Given the description of an element on the screen output the (x, y) to click on. 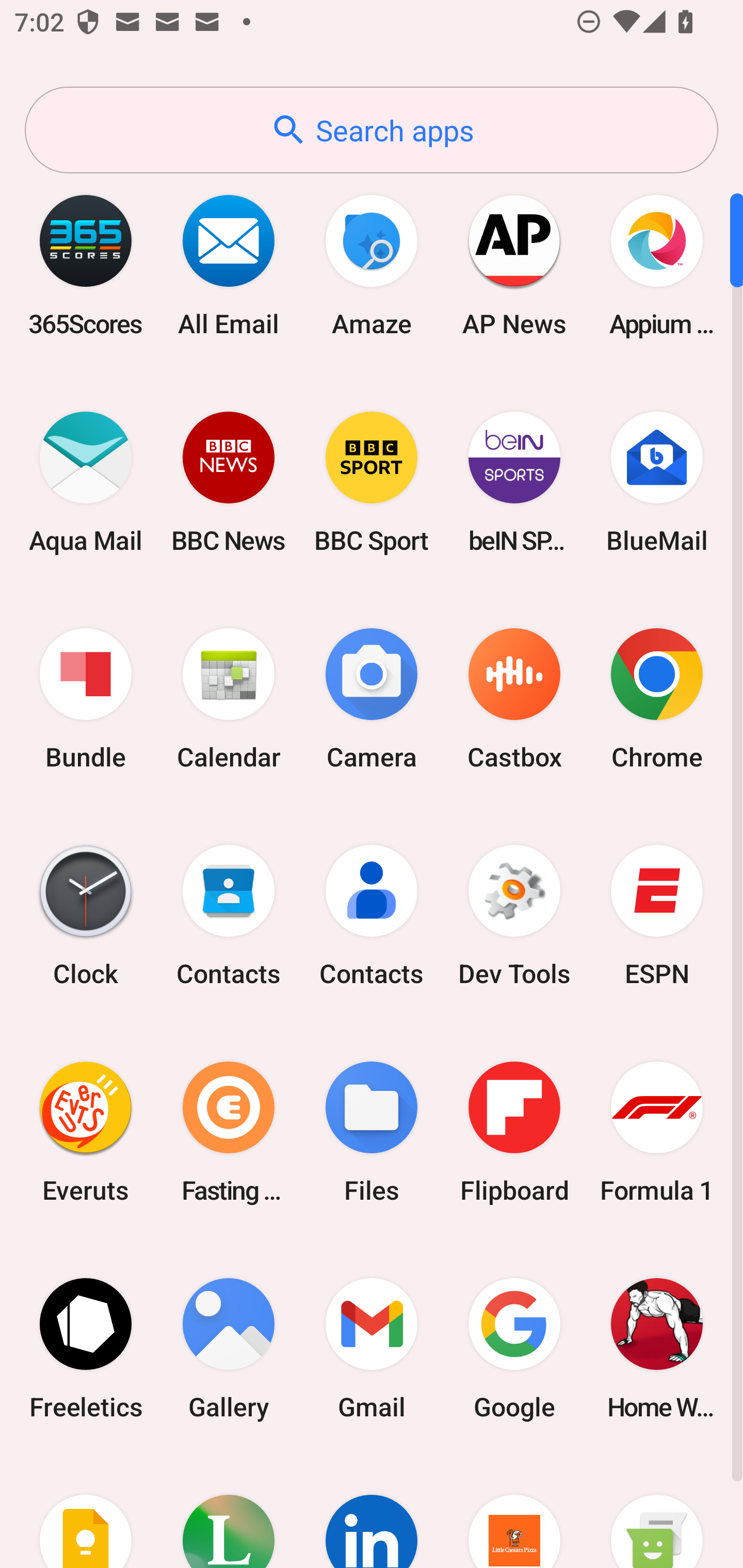
  Search apps (371, 130)
365Scores (85, 264)
All Email (228, 264)
Amaze (371, 264)
AP News (514, 264)
Appium Settings (656, 264)
Aqua Mail (85, 482)
BBC News (228, 482)
BBC Sport (371, 482)
beIN SPORTS (514, 482)
BlueMail (656, 482)
Bundle (85, 699)
Calendar (228, 699)
Camera (371, 699)
Castbox (514, 699)
Chrome (656, 699)
Clock (85, 915)
Contacts (228, 915)
Contacts (371, 915)
Dev Tools (514, 915)
ESPN (656, 915)
Everuts (85, 1131)
Fasting Coach (228, 1131)
Files (371, 1131)
Flipboard (514, 1131)
Formula 1 (656, 1131)
Freeletics (85, 1348)
Gallery (228, 1348)
Gmail (371, 1348)
Google (514, 1348)
Home Workout (656, 1348)
